Given the description of an element on the screen output the (x, y) to click on. 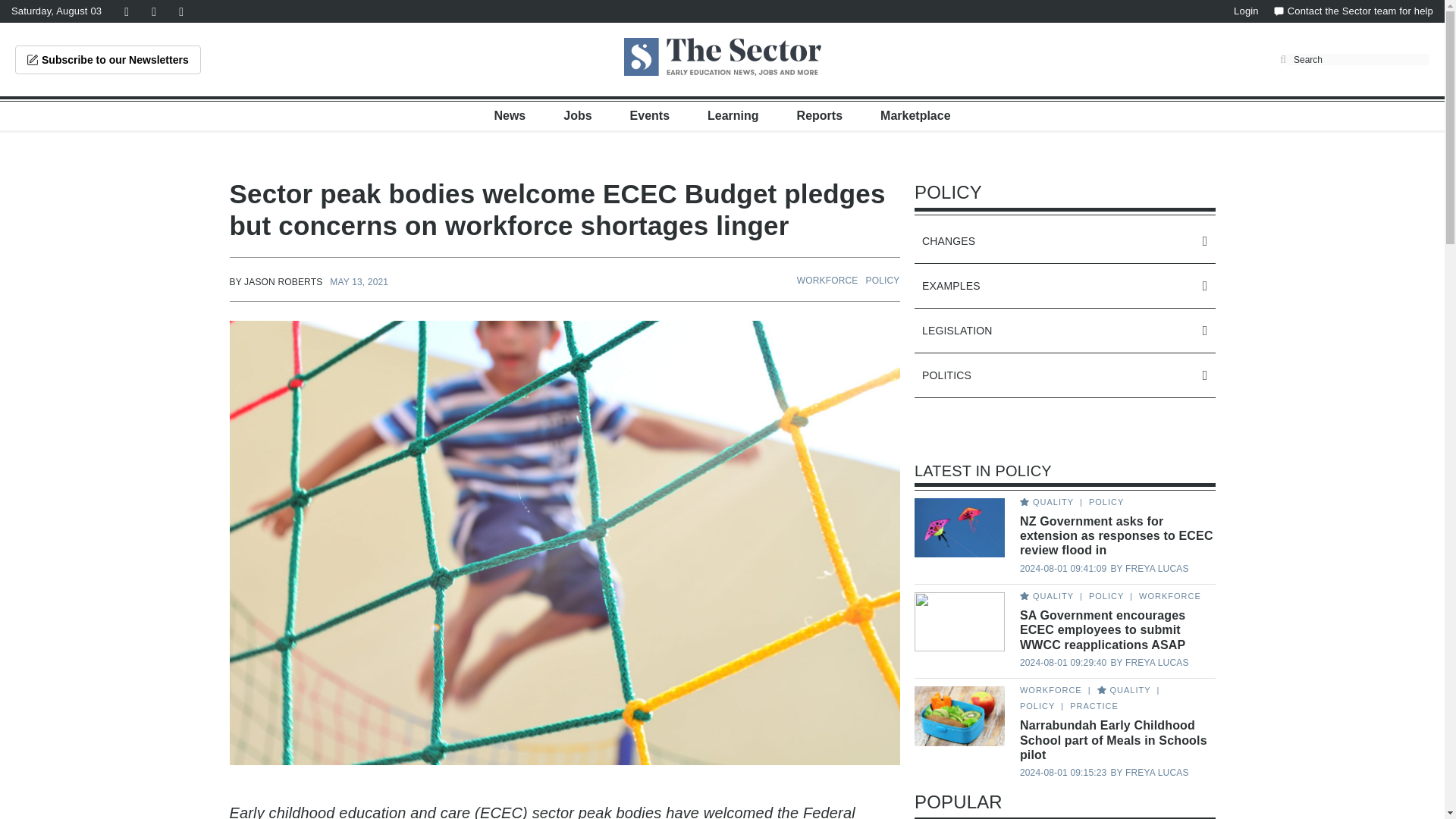
Events (649, 115)
Learning (732, 115)
WORKFORCE (827, 280)
Reports (819, 115)
POLICY (882, 280)
Login (1246, 11)
Marketplace (915, 115)
News (509, 115)
Subscribe to our Newsletters (107, 59)
Contact the Sector team for help (1353, 11)
Jobs (577, 115)
